Given the description of an element on the screen output the (x, y) to click on. 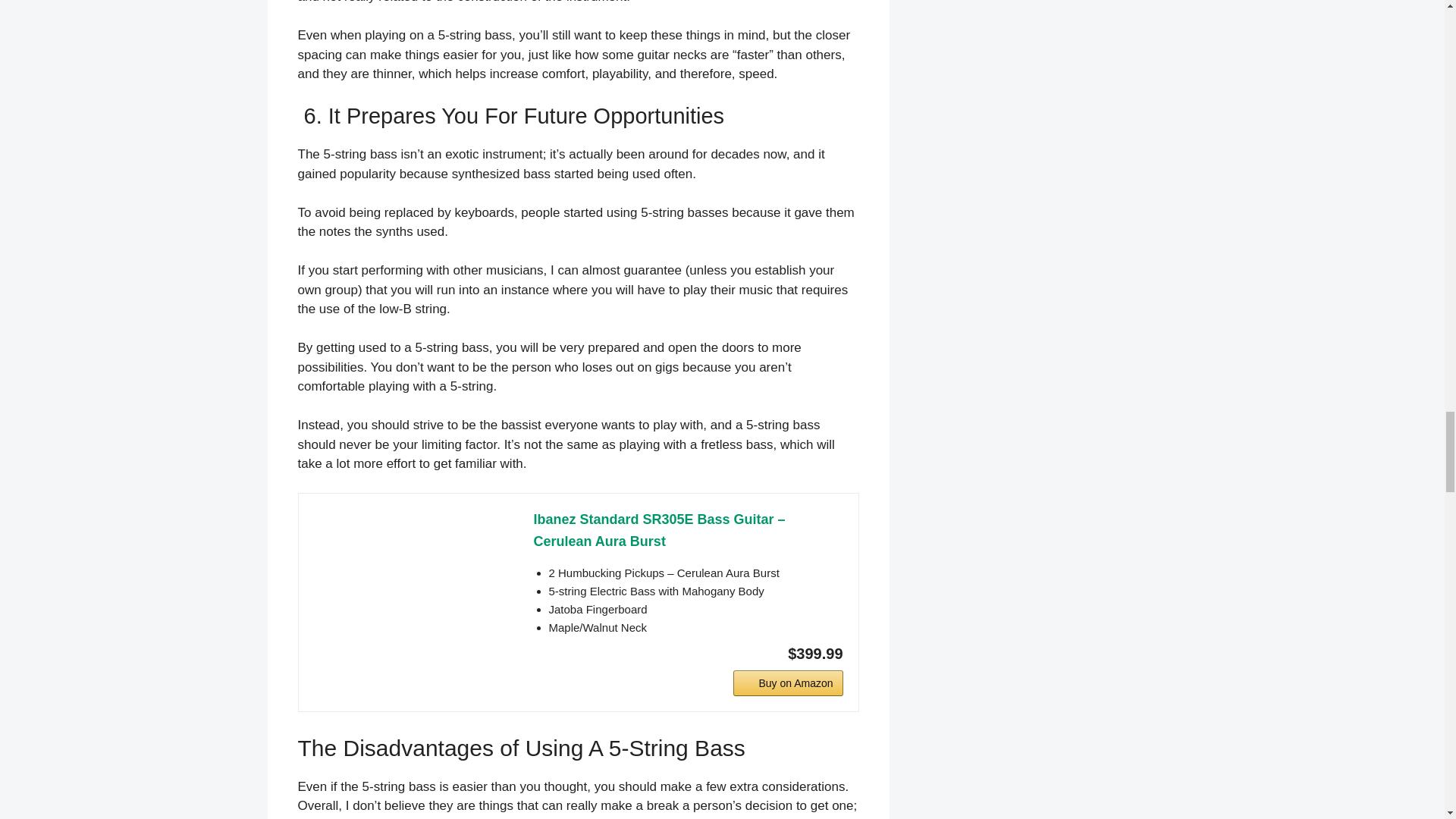
Buy on Amazon (788, 683)
Ibanez Standard SR305E Bass Guitar - Cerulean Aura Burst (688, 530)
